Given the description of an element on the screen output the (x, y) to click on. 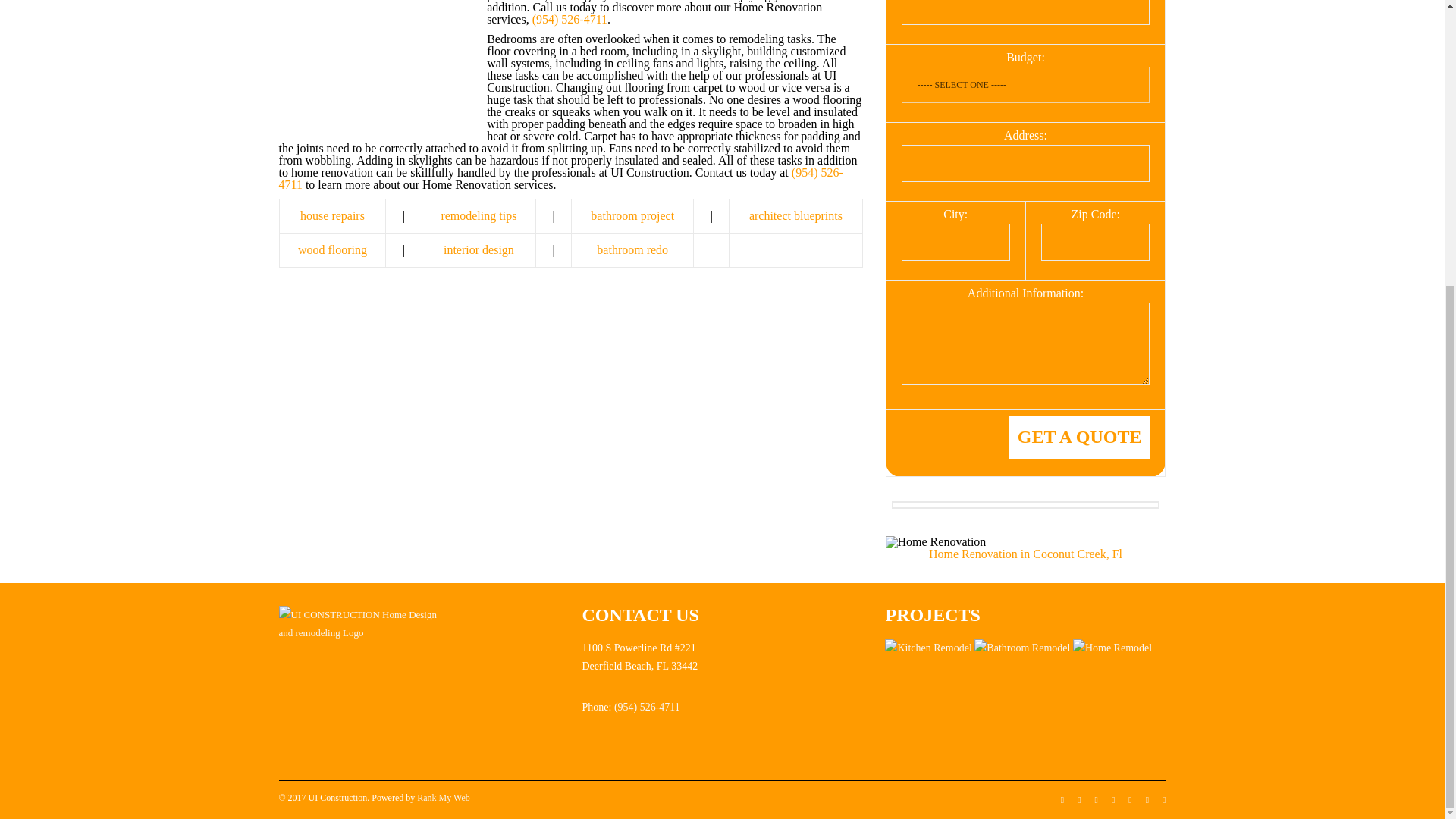
bathroom redo (632, 249)
wood flooring (332, 249)
bathroom project (632, 215)
interior design (478, 249)
GET A QUOTE (1079, 437)
remodeling tips (478, 215)
Rank My Web (442, 797)
architect blueprints (796, 215)
GET A QUOTE (1079, 437)
house repairs (332, 215)
